Given the description of an element on the screen output the (x, y) to click on. 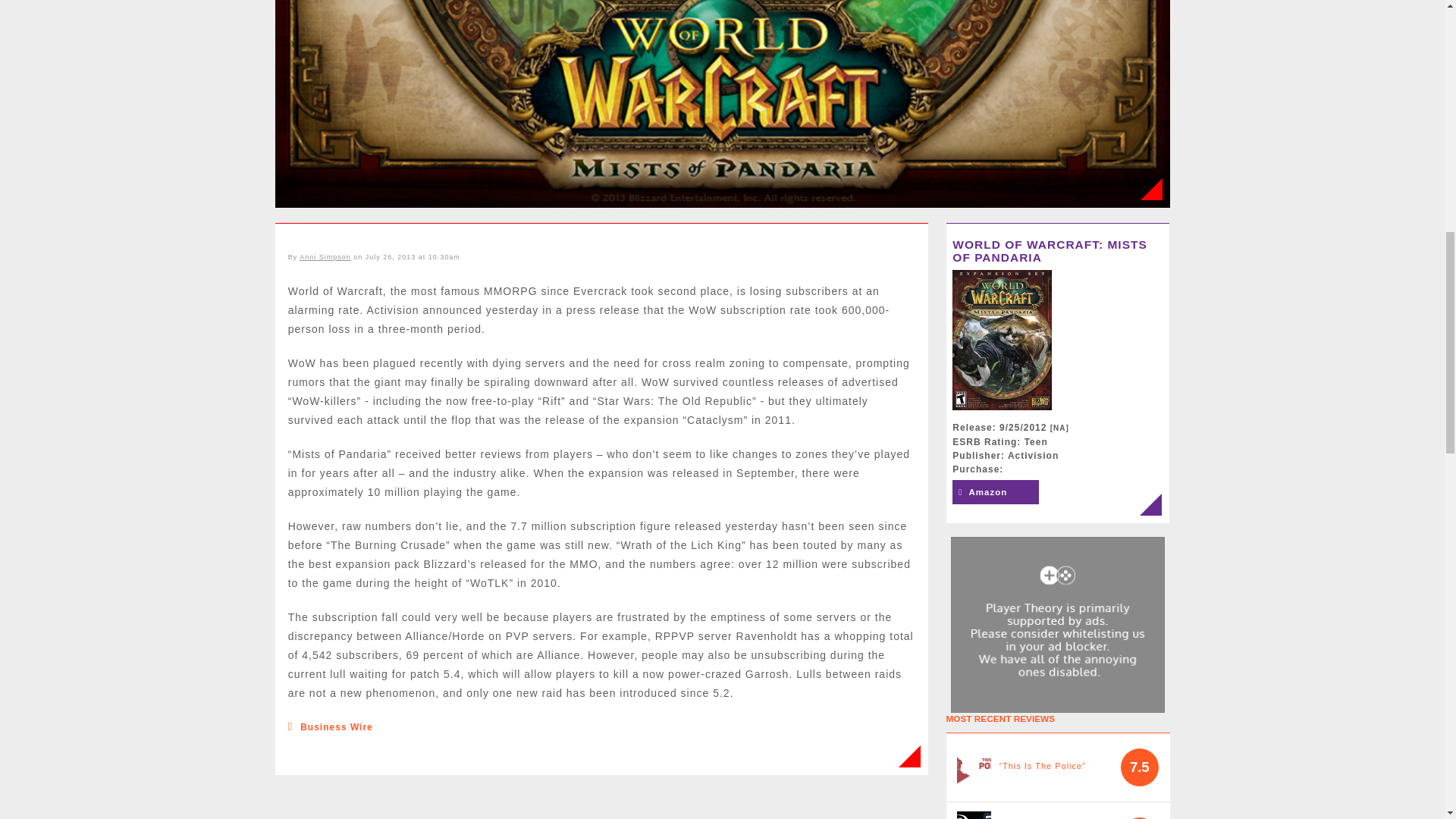
Business Wire (335, 726)
Amazon (995, 491)
Anni Simpson (324, 257)
